Given the description of an element on the screen output the (x, y) to click on. 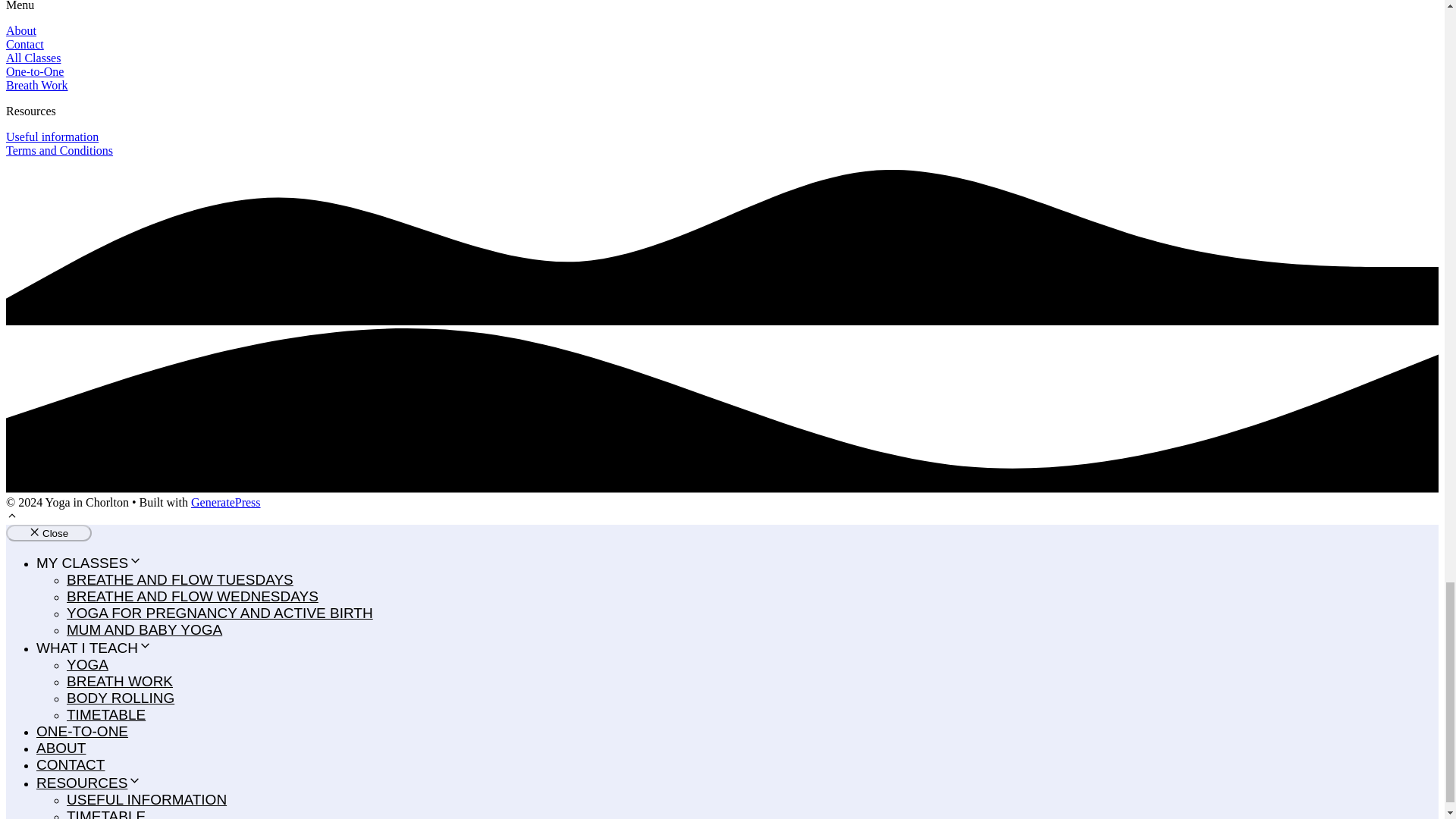
About (20, 30)
All Classes (33, 57)
Contact (24, 43)
Scroll back to top (11, 517)
